Given the description of an element on the screen output the (x, y) to click on. 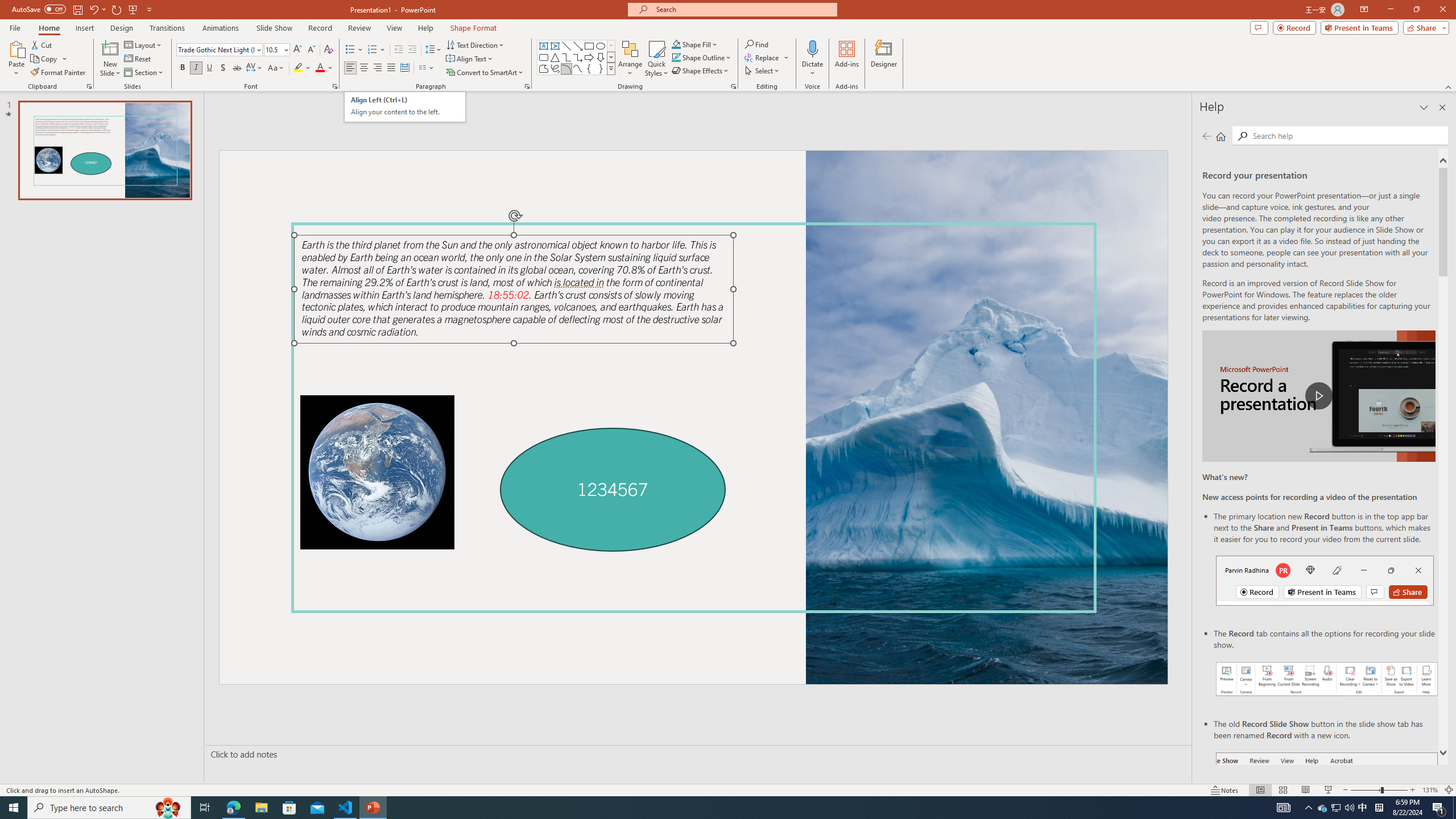
play Record a Presentation (1318, 395)
